Given the description of an element on the screen output the (x, y) to click on. 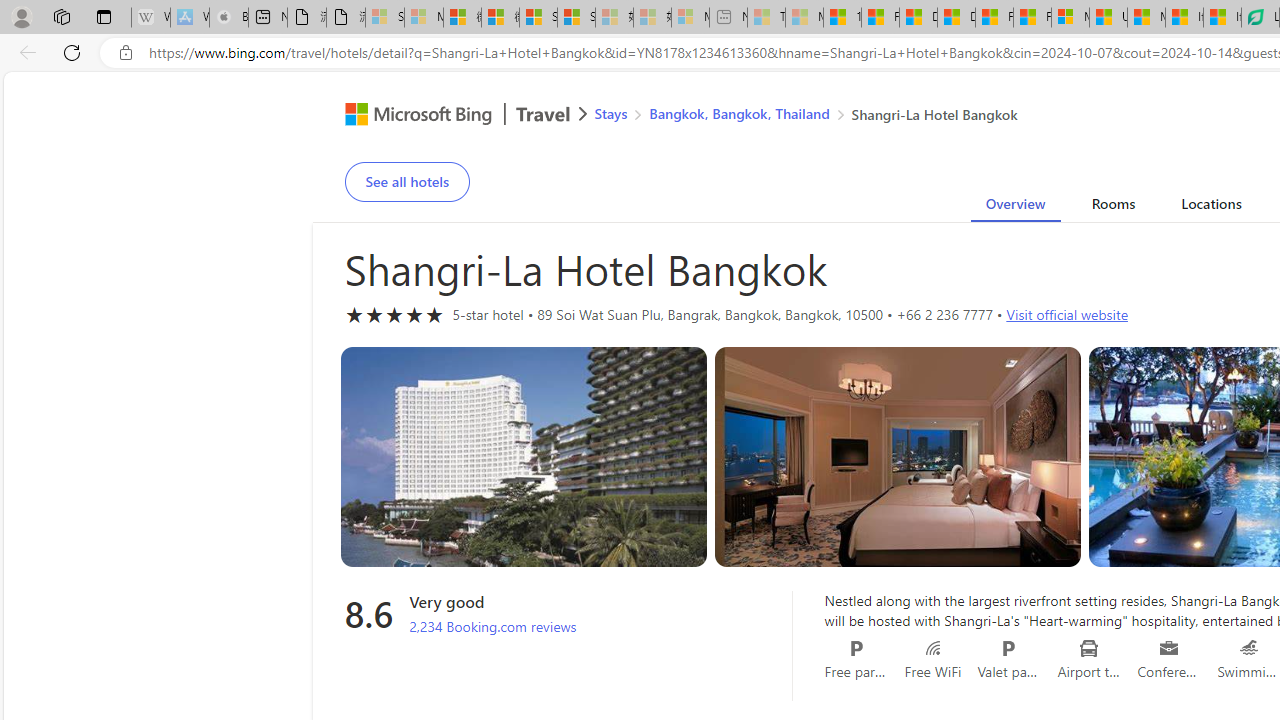
Locations (1211, 207)
Top Stories - MSN - Sleeping (765, 17)
Overview (1015, 207)
